Given the description of an element on the screen output the (x, y) to click on. 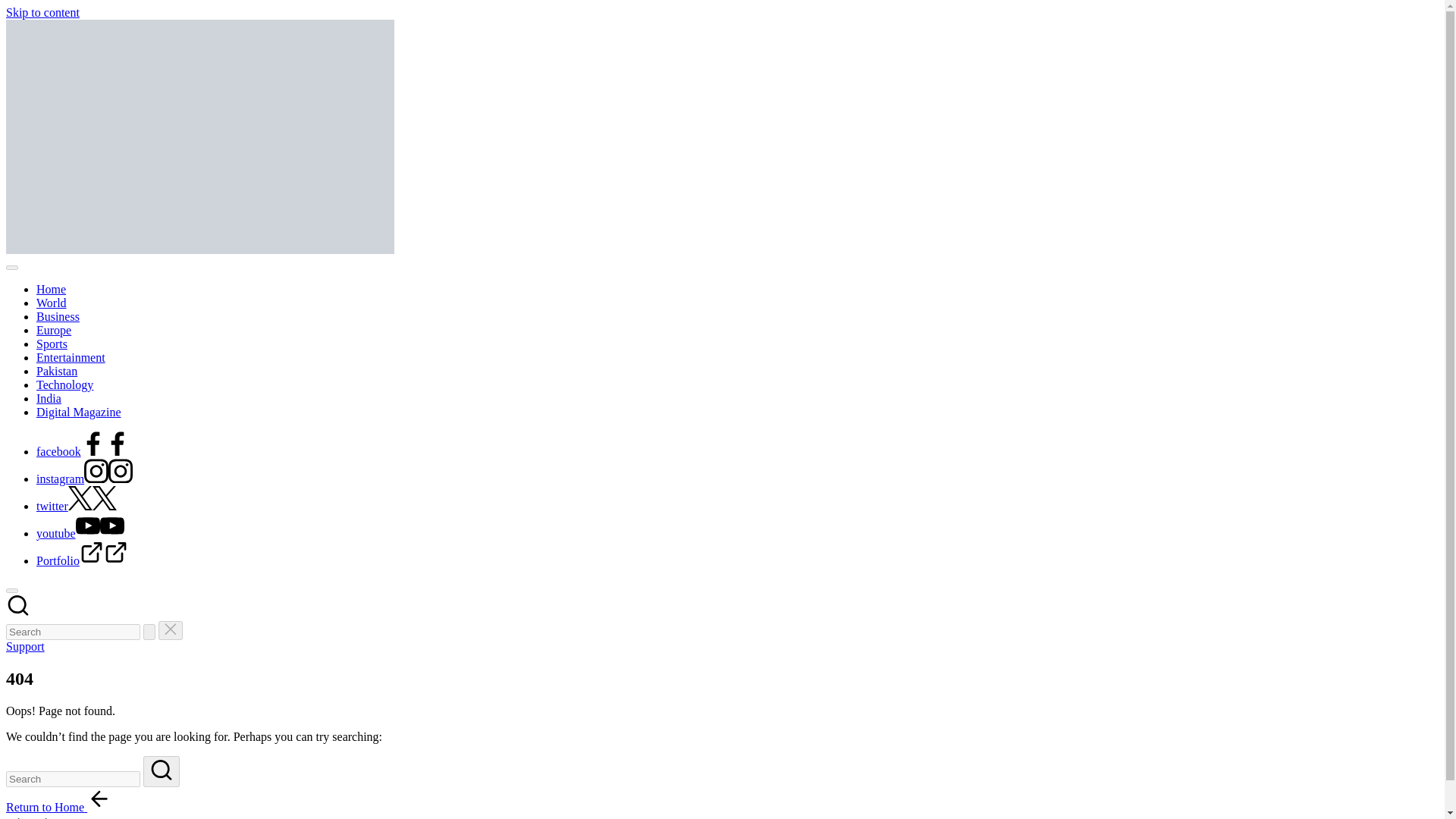
Twitter (92, 505)
twitter (76, 505)
India (48, 398)
Facebook (105, 451)
Youtube (99, 533)
Skip to content (42, 11)
Portfolio (82, 560)
World (51, 302)
instagram (84, 478)
Entertainment (70, 357)
